Given the description of an element on the screen output the (x, y) to click on. 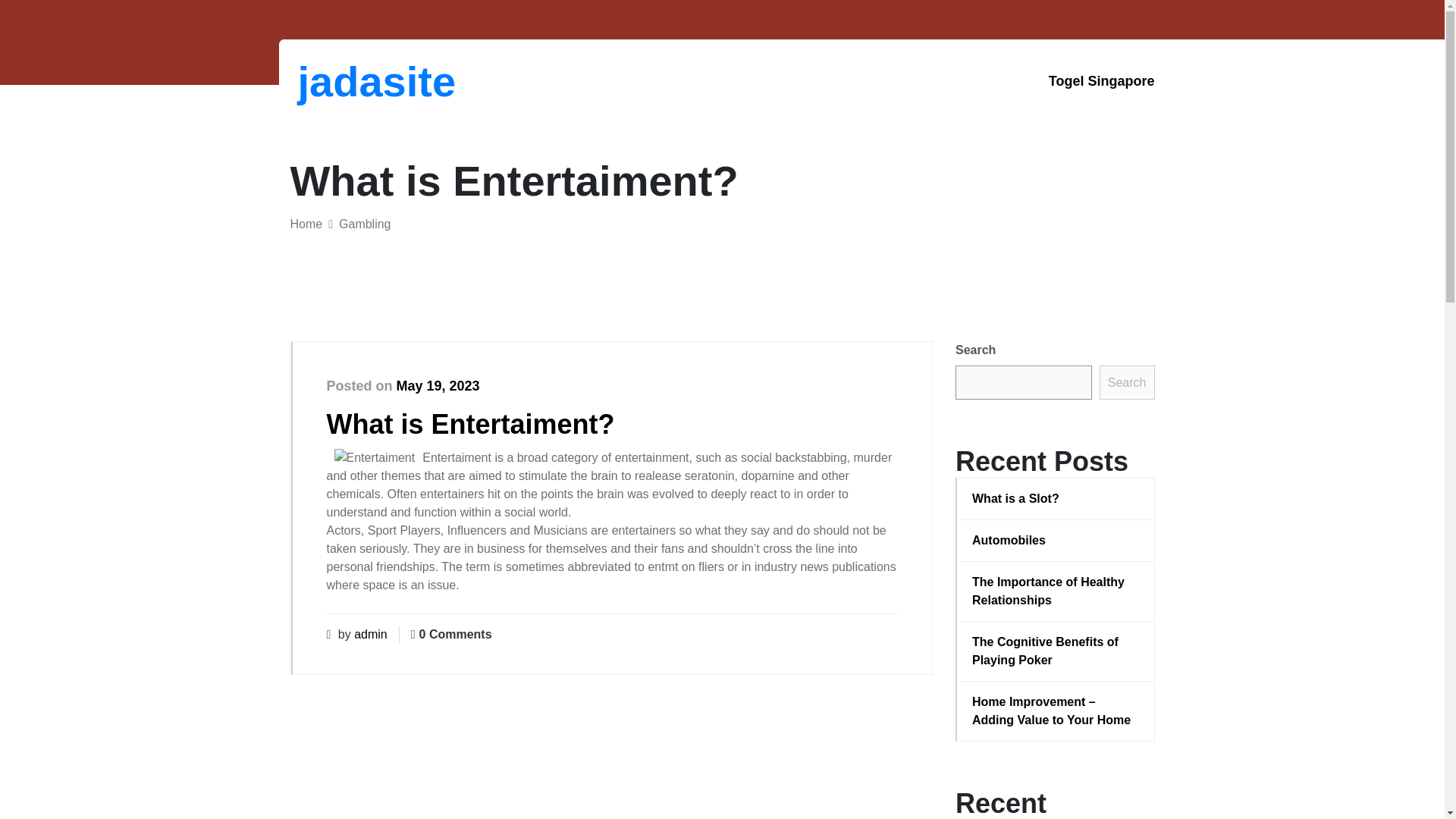
The Cognitive Benefits of Playing Poker (1055, 651)
Togel Singapore (1101, 81)
What is a Slot? (1055, 498)
Home (305, 223)
Search (1126, 382)
Automobiles (1055, 540)
Togel Singapore (1101, 81)
Gambling (364, 223)
jadasite (376, 81)
The Importance of Healthy Relationships (1055, 591)
What is Entertaiment? (470, 423)
admin (370, 634)
May 19, 2023 (438, 385)
